Given the description of an element on the screen output the (x, y) to click on. 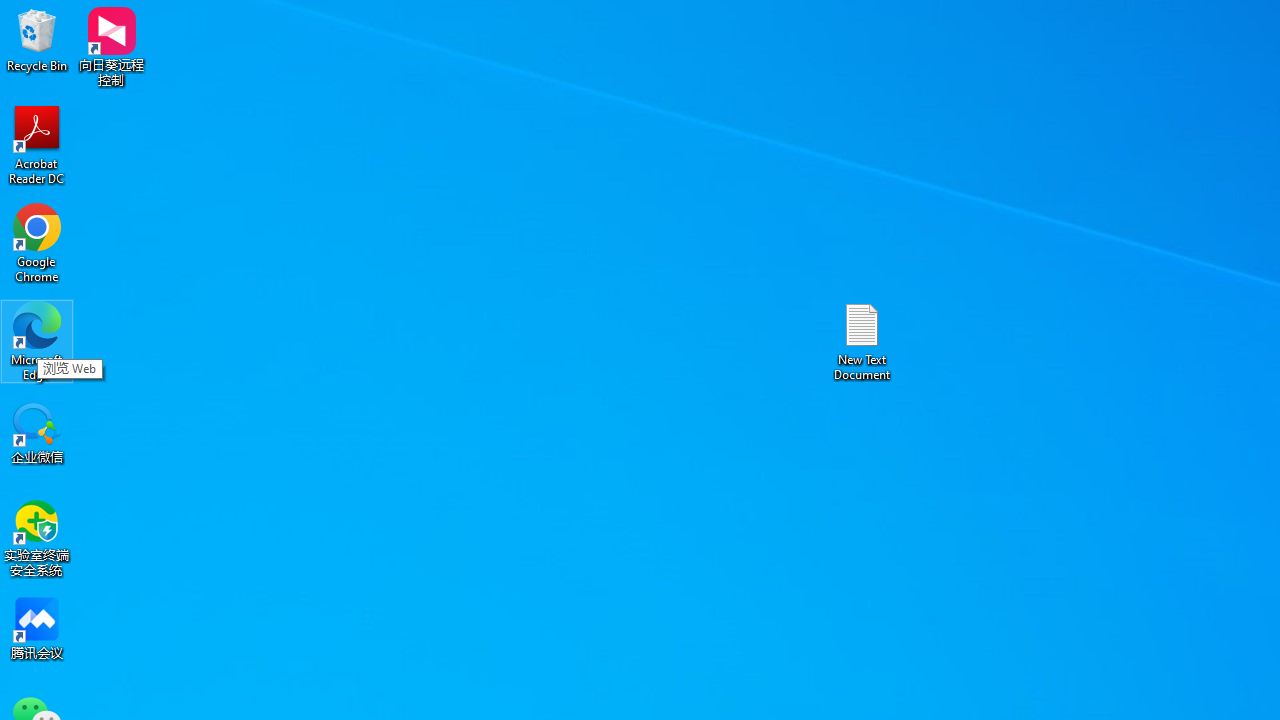
Acrobat Reader DC (37, 144)
Microsoft Edge (37, 340)
Recycle Bin (37, 39)
New Text Document (861, 340)
Google Chrome (37, 242)
